Given the description of an element on the screen output the (x, y) to click on. 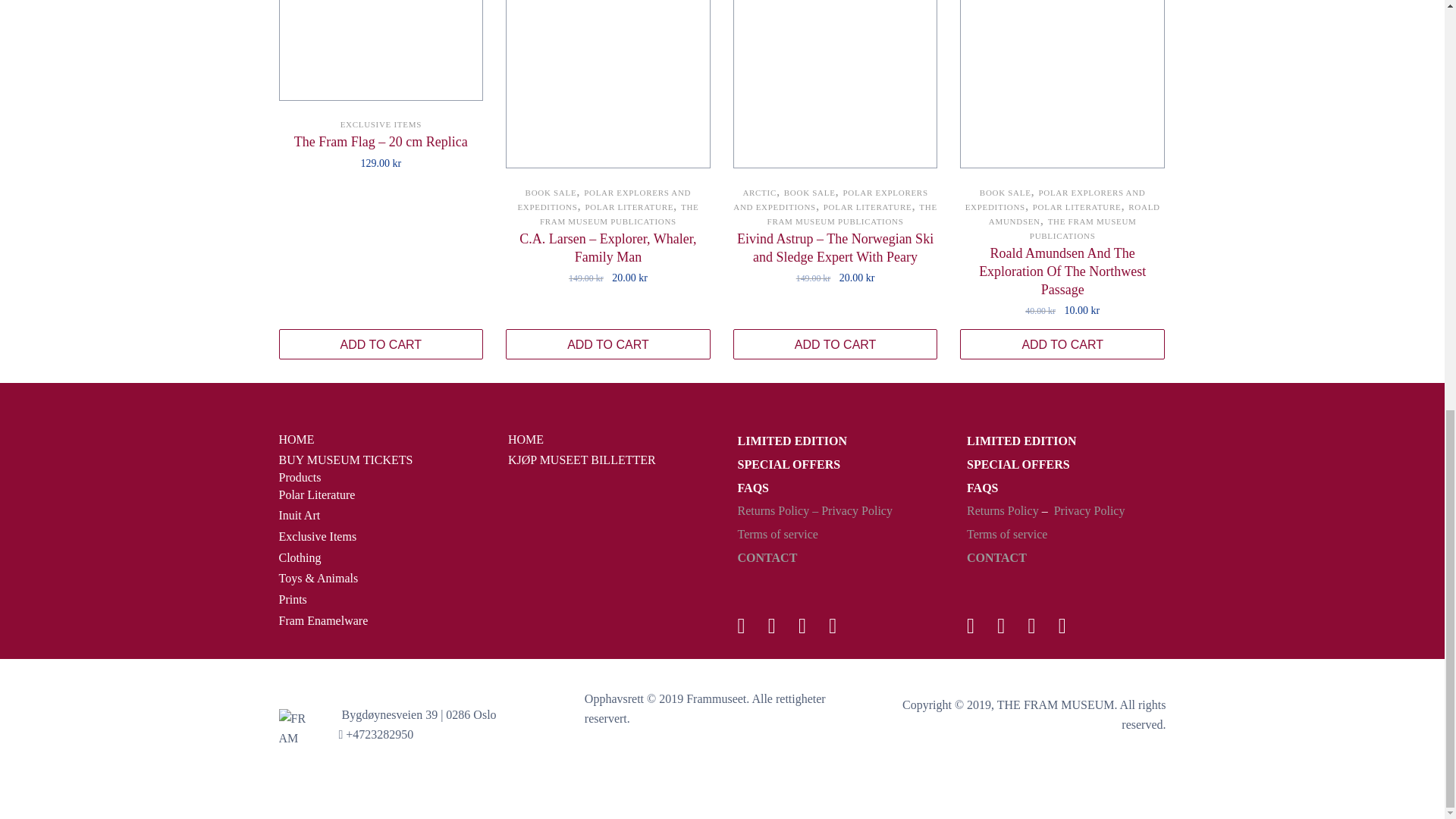
Roald Amundsen And The Exploration Of The Northwest Passage (1061, 271)
Roald Amundsen And The Exploration Of The Northwest Passage (1061, 84)
